Given the description of an element on the screen output the (x, y) to click on. 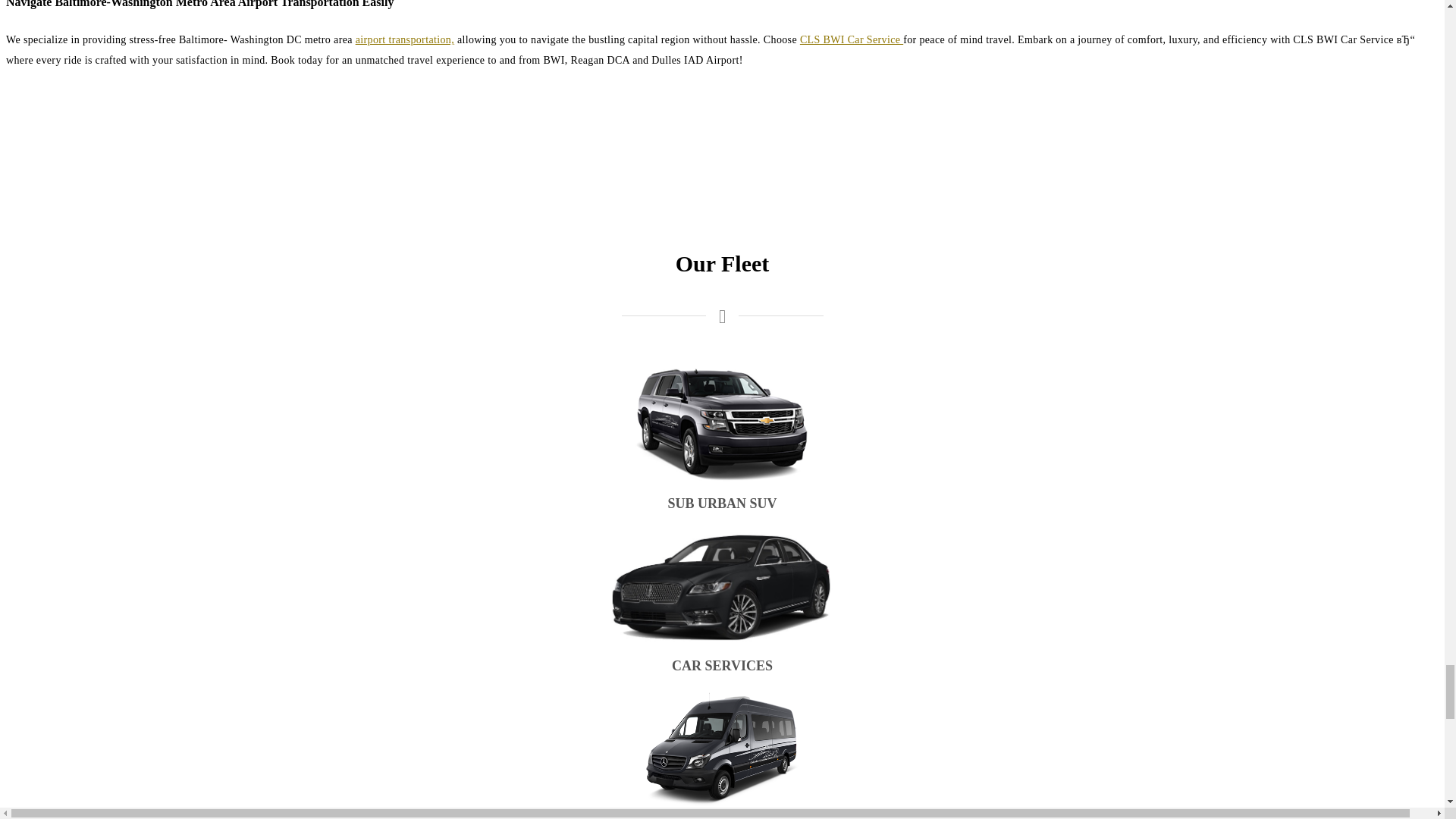
airport transportation, (404, 39)
CLS BWI Car Service (850, 39)
